Given the description of an element on the screen output the (x, y) to click on. 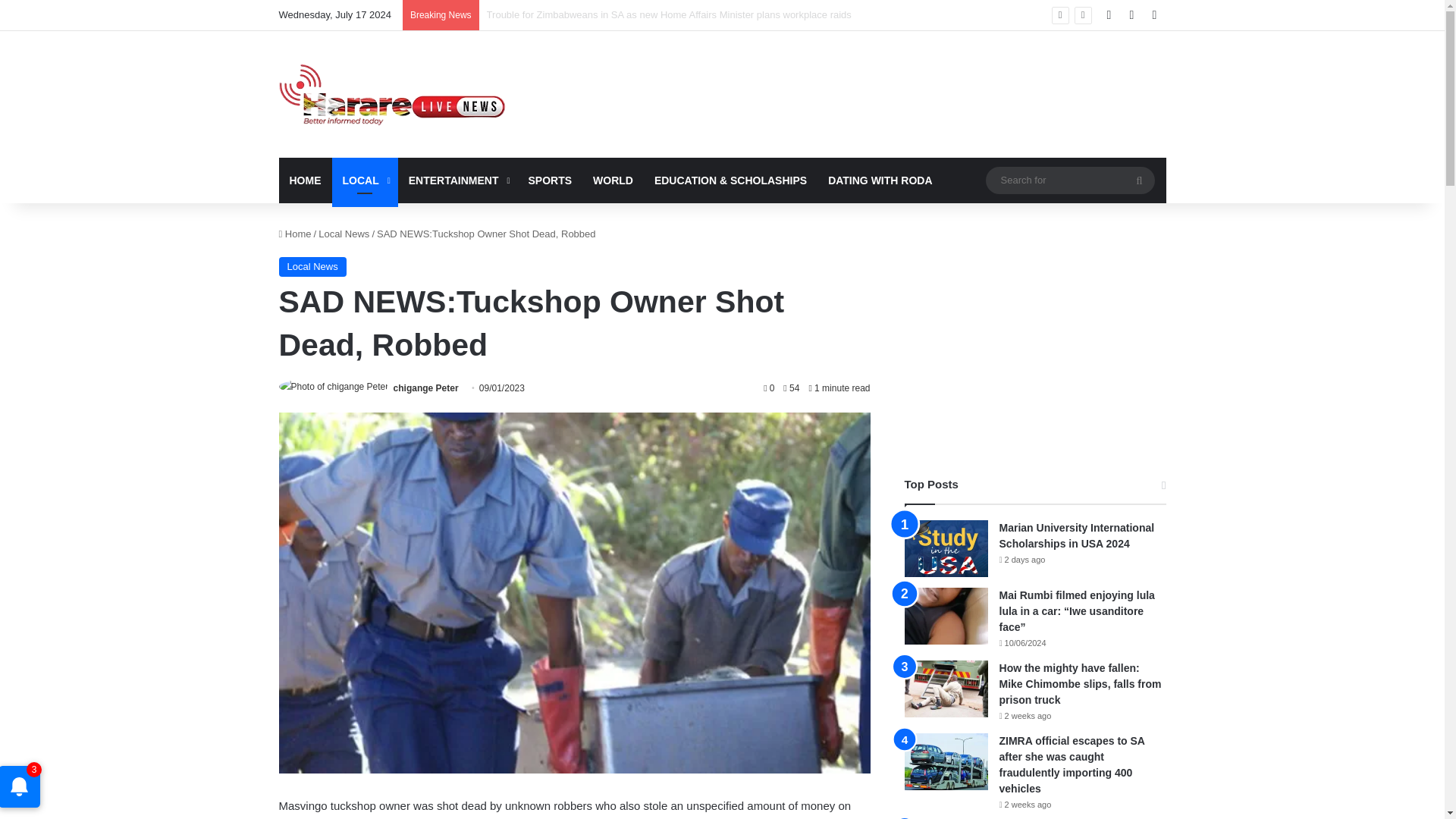
Search for (1139, 180)
ENTERTAINMENT (457, 180)
chigange Peter (425, 388)
HOME (305, 180)
DATING WITH RODA (879, 180)
Local News (343, 233)
Harare Live (392, 94)
SPORTS (549, 180)
Sidebar (1154, 15)
Random Article (1131, 15)
Search for (1069, 180)
WORLD (612, 180)
Home (295, 233)
LOCAL (364, 180)
